Given the description of an element on the screen output the (x, y) to click on. 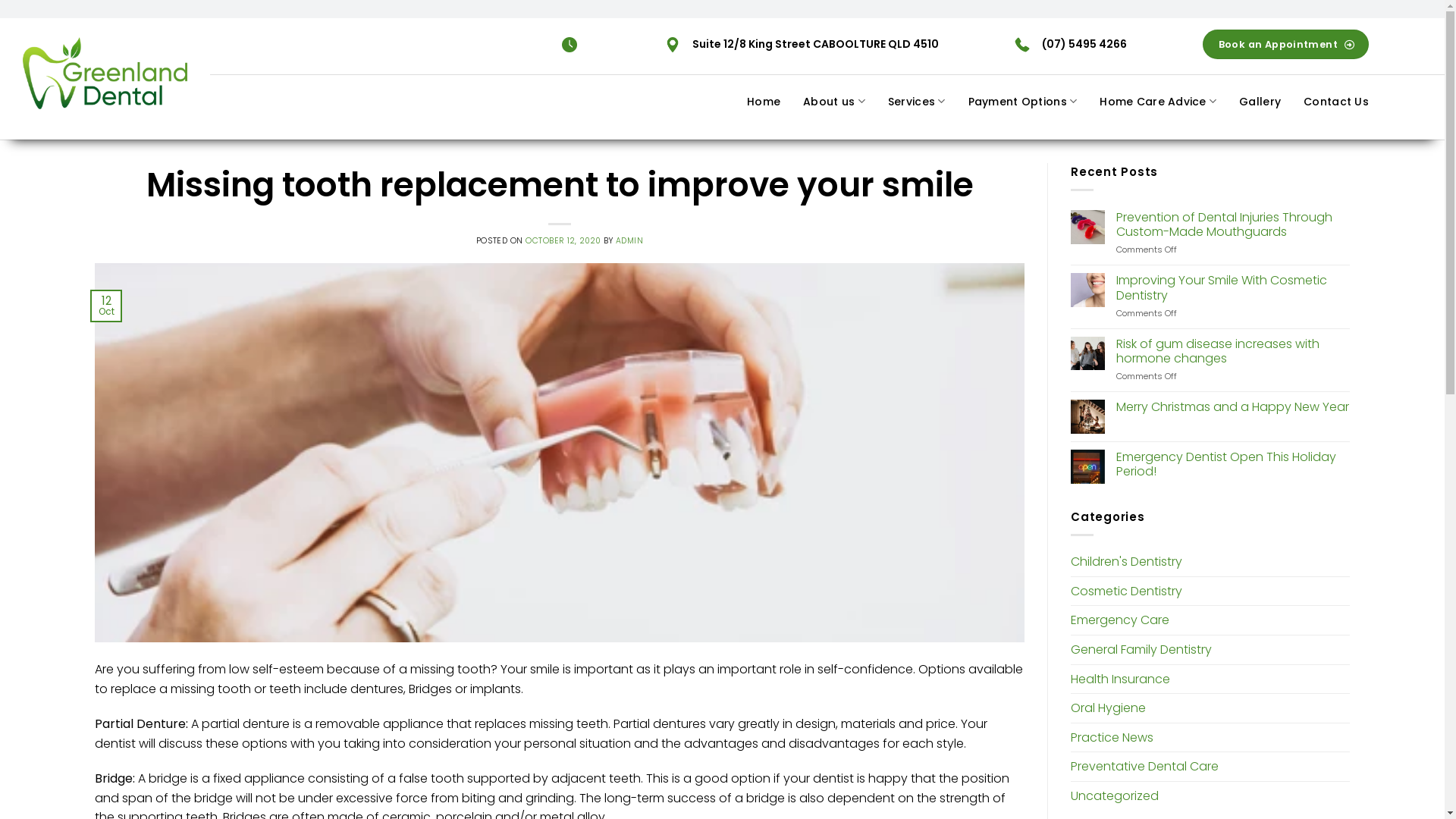
Book an Appointment Element type: text (1285, 44)
Oral Hygiene Element type: text (1107, 707)
Emergency Care Element type: text (1119, 619)
Gallery Element type: text (1259, 101)
ADMIN Element type: text (629, 240)
Emergency Dentist Open This Holiday Period! Element type: text (1232, 463)
Contact Us Element type: text (1335, 101)
(07) 5495 4266 Element type: text (1083, 43)
Practice News Element type: text (1111, 737)
Merry Christmas and a Happy New Year Element type: text (1232, 406)
General Family Dentistry Element type: text (1140, 649)
OCTOBER 12, 2020 Element type: text (562, 240)
Health Insurance Element type: text (1120, 678)
Risk of gum disease increases with hormone changes Element type: text (1232, 350)
Home Care Advice Element type: text (1157, 101)
Greenland Dental Element type: hover (104, 72)
Home Element type: text (763, 101)
Services Element type: text (916, 101)
Improving Your Smile With Cosmetic Dentistry Element type: text (1232, 287)
Uncategorized Element type: text (1114, 795)
Payment Options Element type: text (1022, 101)
Children's Dentistry Element type: text (1126, 561)
Preventative Dental Care Element type: text (1144, 766)
Cosmetic Dentistry Element type: text (1126, 591)
About us Element type: text (834, 101)
